Given the description of an element on the screen output the (x, y) to click on. 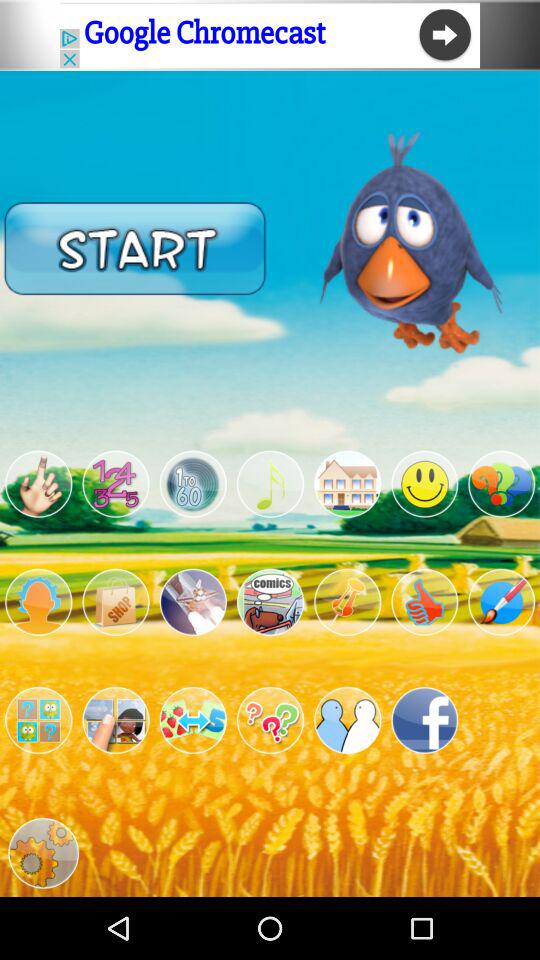
play game mode (347, 720)
